Given the description of an element on the screen output the (x, y) to click on. 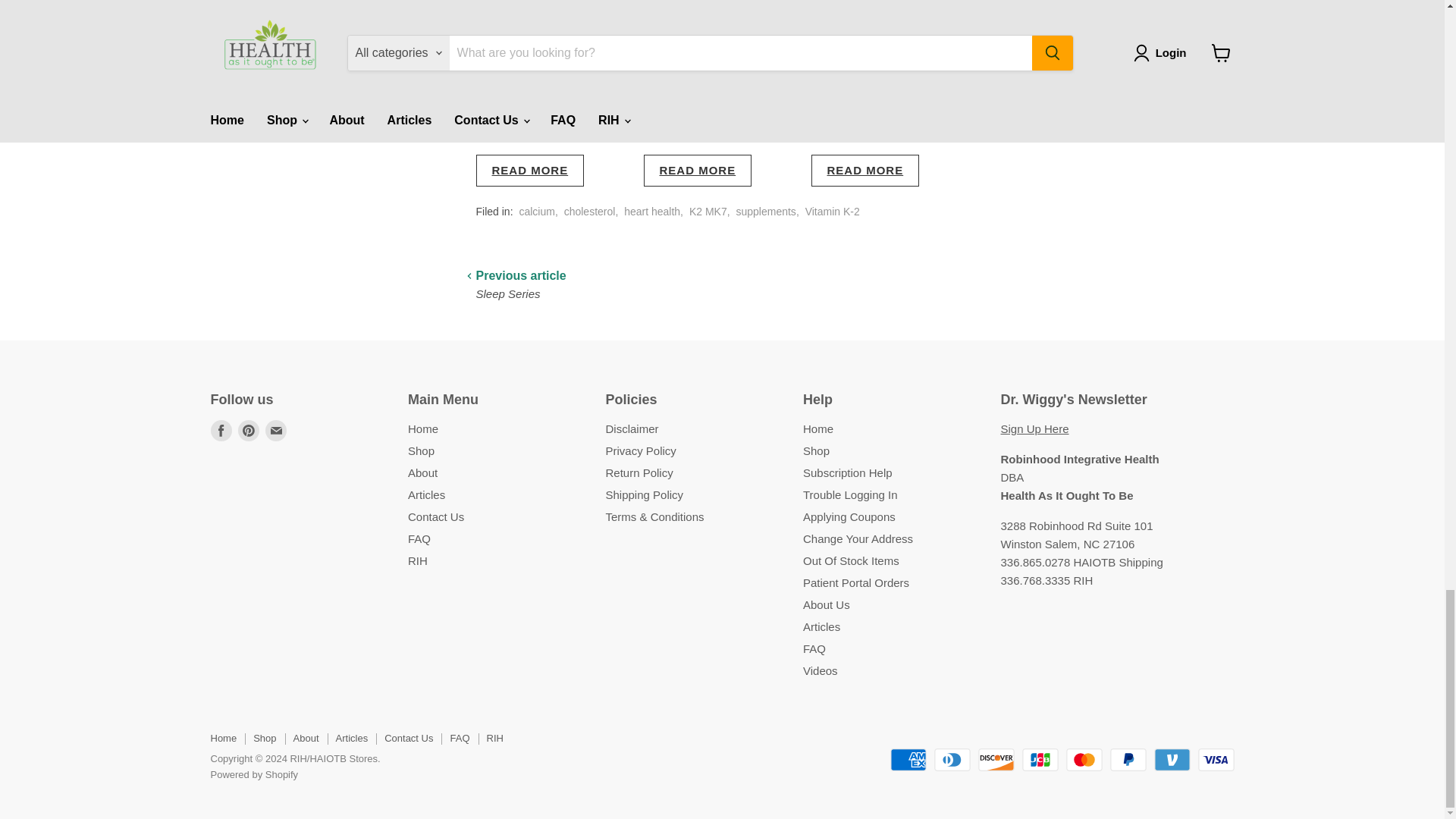
Show articles tagged cholesterol (589, 211)
Diners Club (952, 759)
Discover (996, 759)
Show articles tagged Vitamin K-2 (832, 211)
Show articles tagged supplements (764, 211)
JCB (1040, 759)
Show articles tagged calcium (536, 211)
Show articles tagged heart health (651, 211)
Facebook (221, 430)
Show articles tagged K2 MK7 (707, 211)
